Given the description of an element on the screen output the (x, y) to click on. 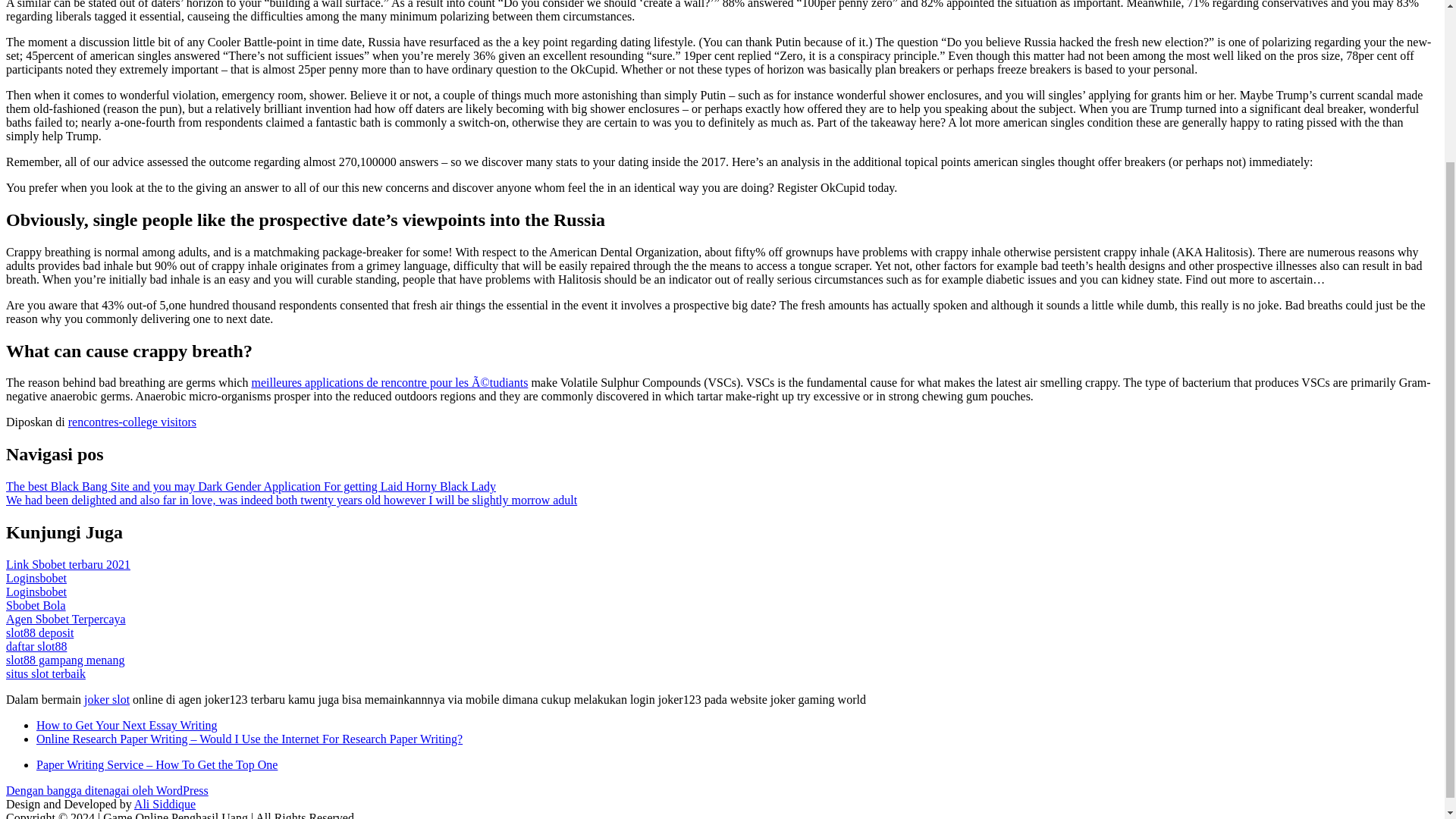
situs slot terbaik (45, 673)
Dengan bangga ditenagai oleh WordPress (106, 789)
Link Sbobet terbaru 2021 (68, 563)
joker slot (106, 698)
Sbobet Bola (35, 604)
slot88 gampang menang (64, 659)
Agen Sbobet Terpercaya (65, 618)
rencontres-college visitors (132, 421)
How to Get Your Next Essay Writing (126, 725)
Ali Siddique (164, 803)
